Given the description of an element on the screen output the (x, y) to click on. 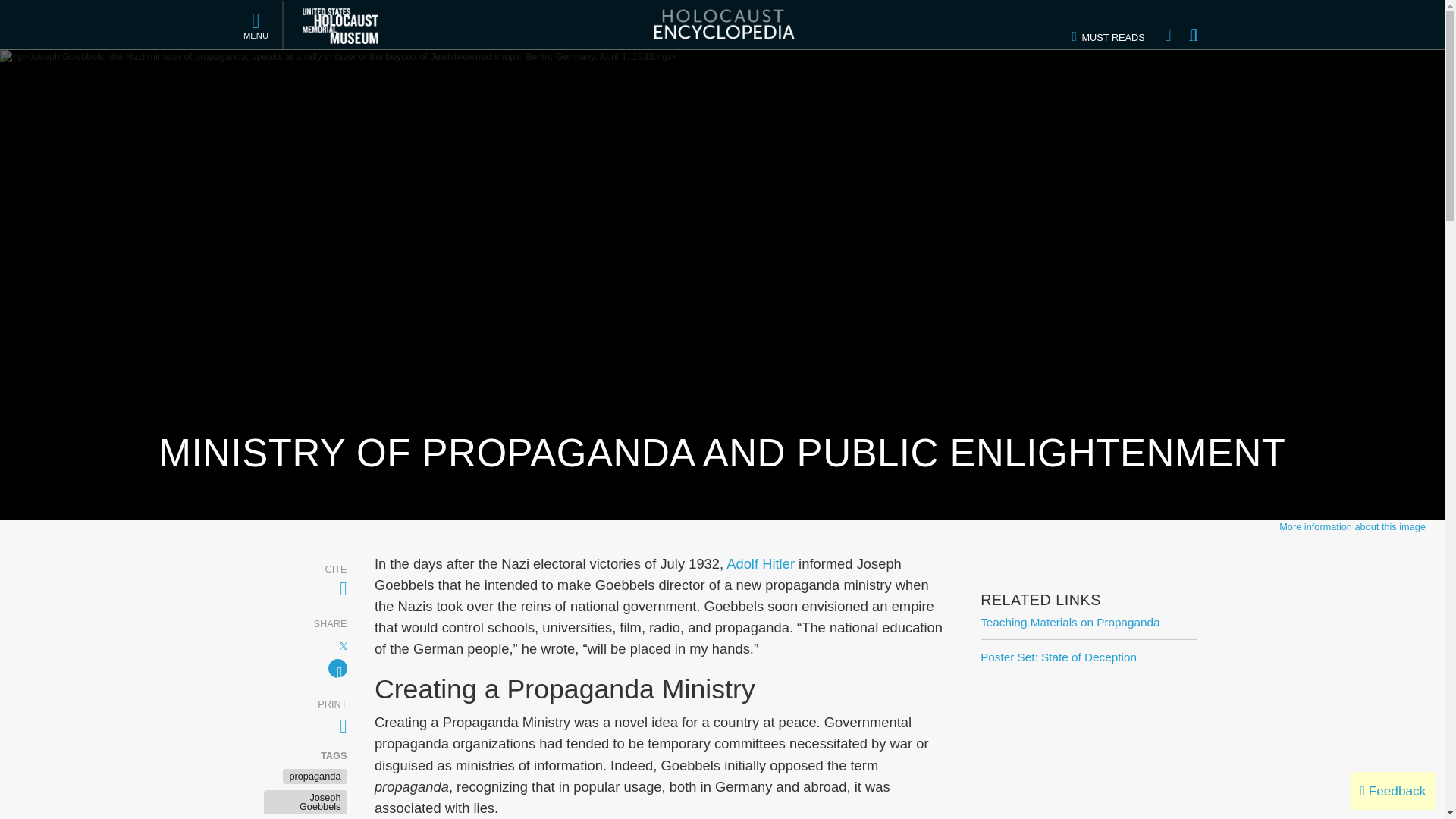
Home (1167, 24)
